Given the description of an element on the screen output the (x, y) to click on. 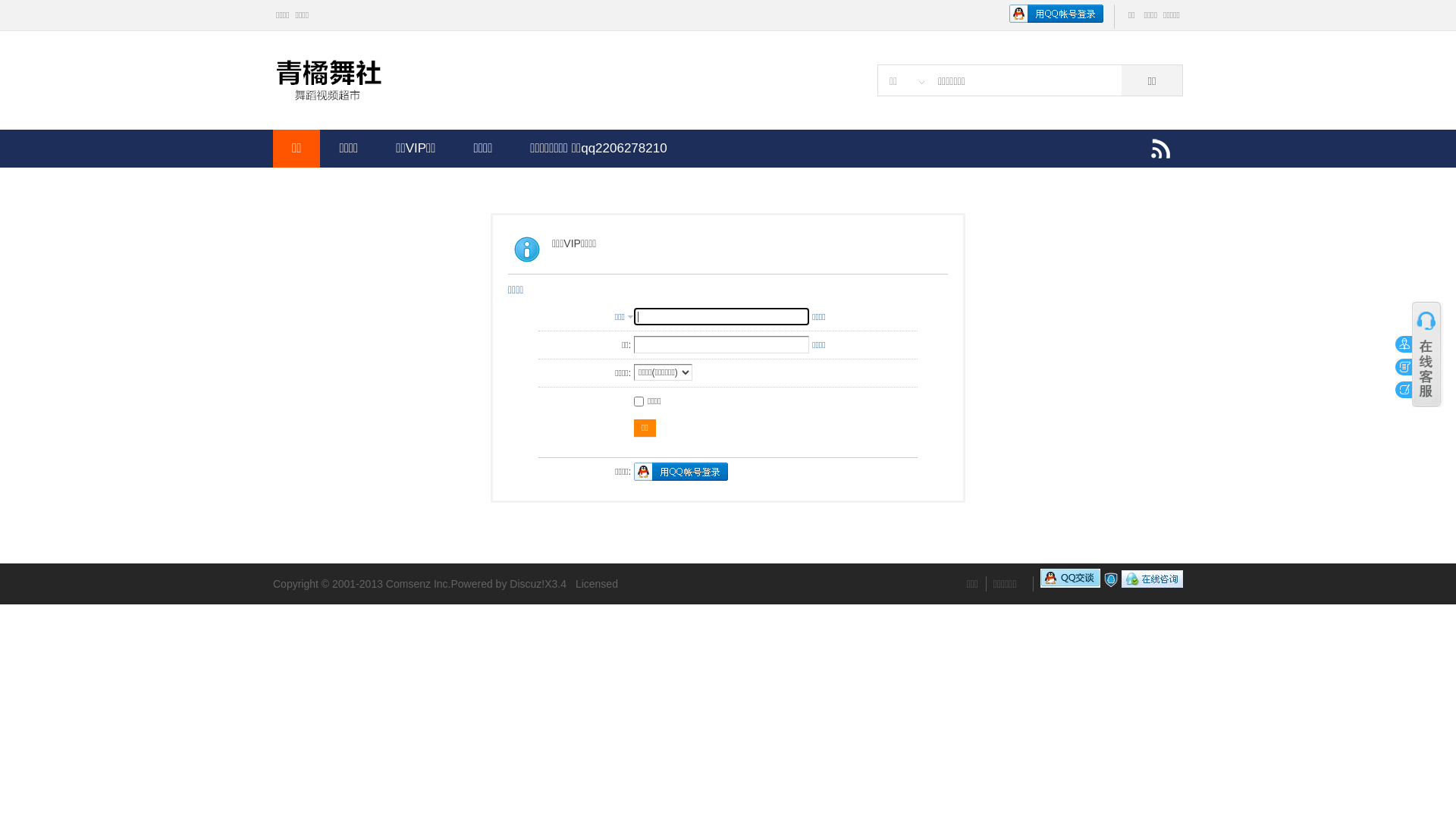
Licensed Element type: text (596, 583)
Comsenz Inc. Element type: text (418, 583)
Discuz! Element type: text (526, 583)
QQ Element type: hover (1152, 583)
